Given the description of an element on the screen output the (x, y) to click on. 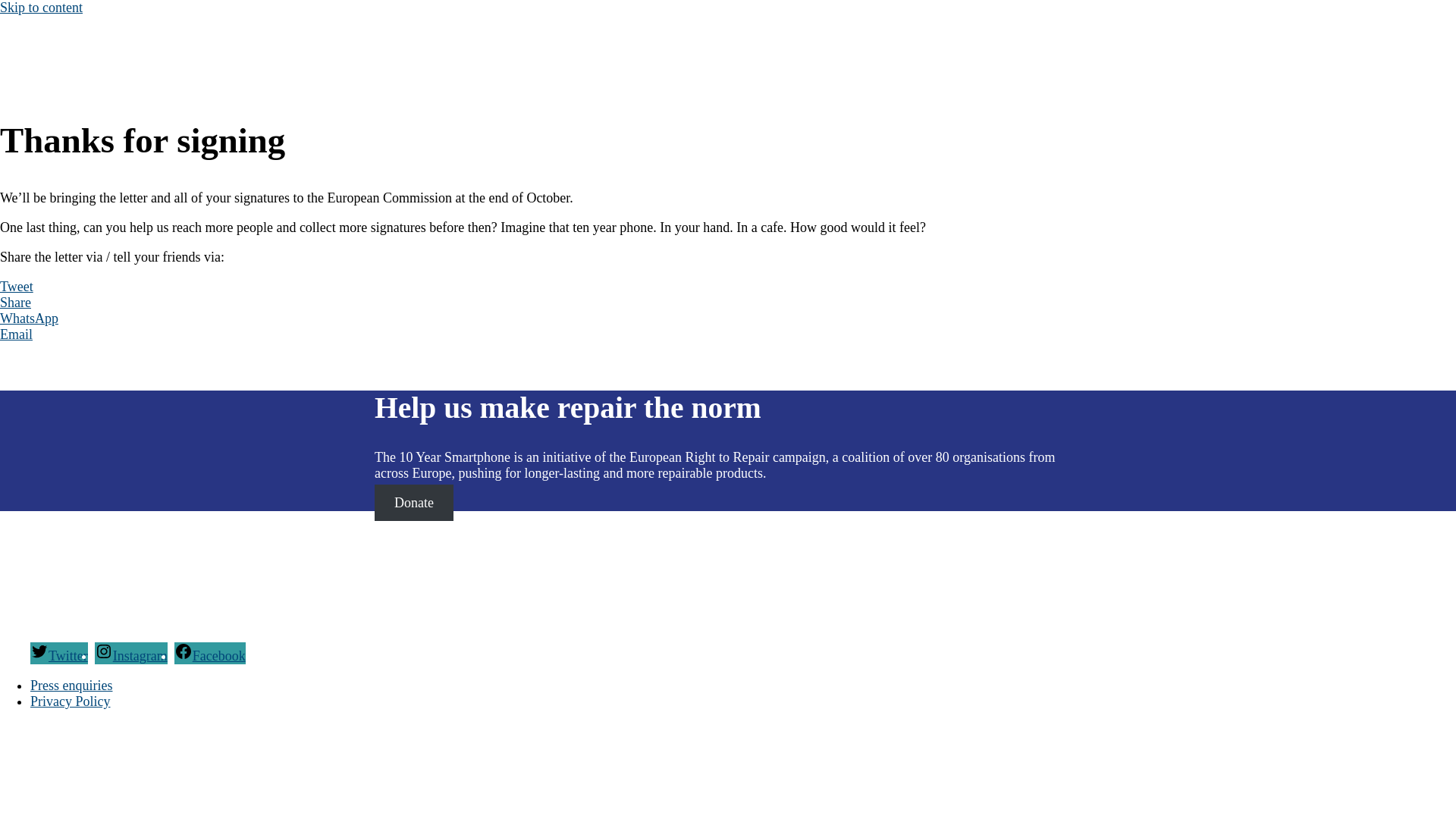
Instagram Element type: text (130, 655)
Tweet Element type: text (16, 286)
Share Element type: text (15, 302)
Press enquiries Element type: text (71, 685)
Email Element type: text (16, 334)
Privacy Policy Element type: text (70, 701)
WhatsApp Element type: text (29, 318)
Facebook Element type: text (209, 655)
Skip to content Element type: text (41, 7)
Twitter Element type: text (58, 655)
Donate Element type: text (413, 502)
